Given the description of an element on the screen output the (x, y) to click on. 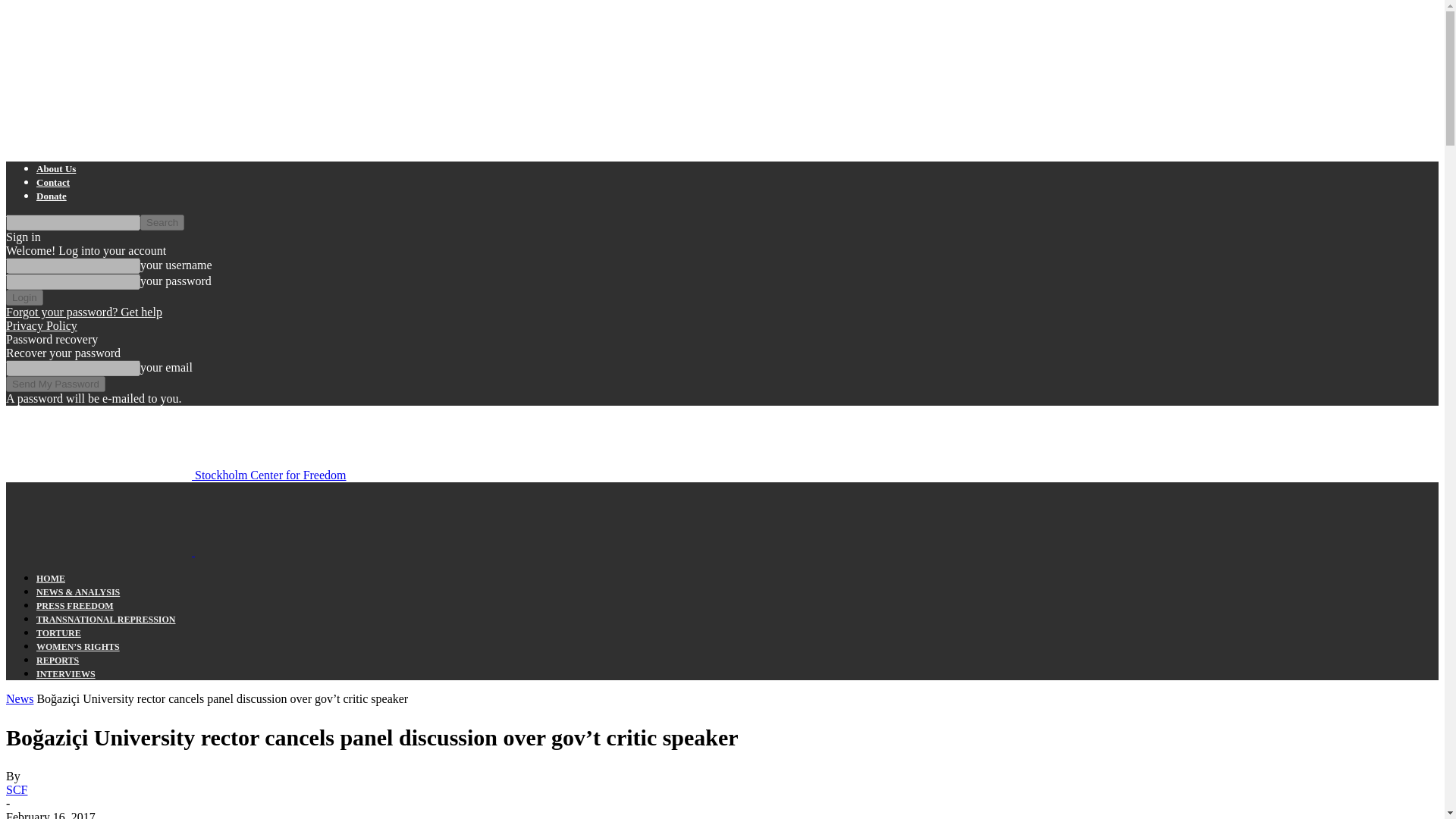
View all posts in News (19, 698)
Forgot your password? Get help (83, 311)
Privacy Policy (41, 325)
Login (24, 297)
Stockholm Center for Freedom (175, 474)
Send My Password (54, 383)
REPORTS (57, 660)
Contact (52, 182)
TRANSNATIONAL REPRESSION (106, 619)
TORTURE (58, 633)
